Given the description of an element on the screen output the (x, y) to click on. 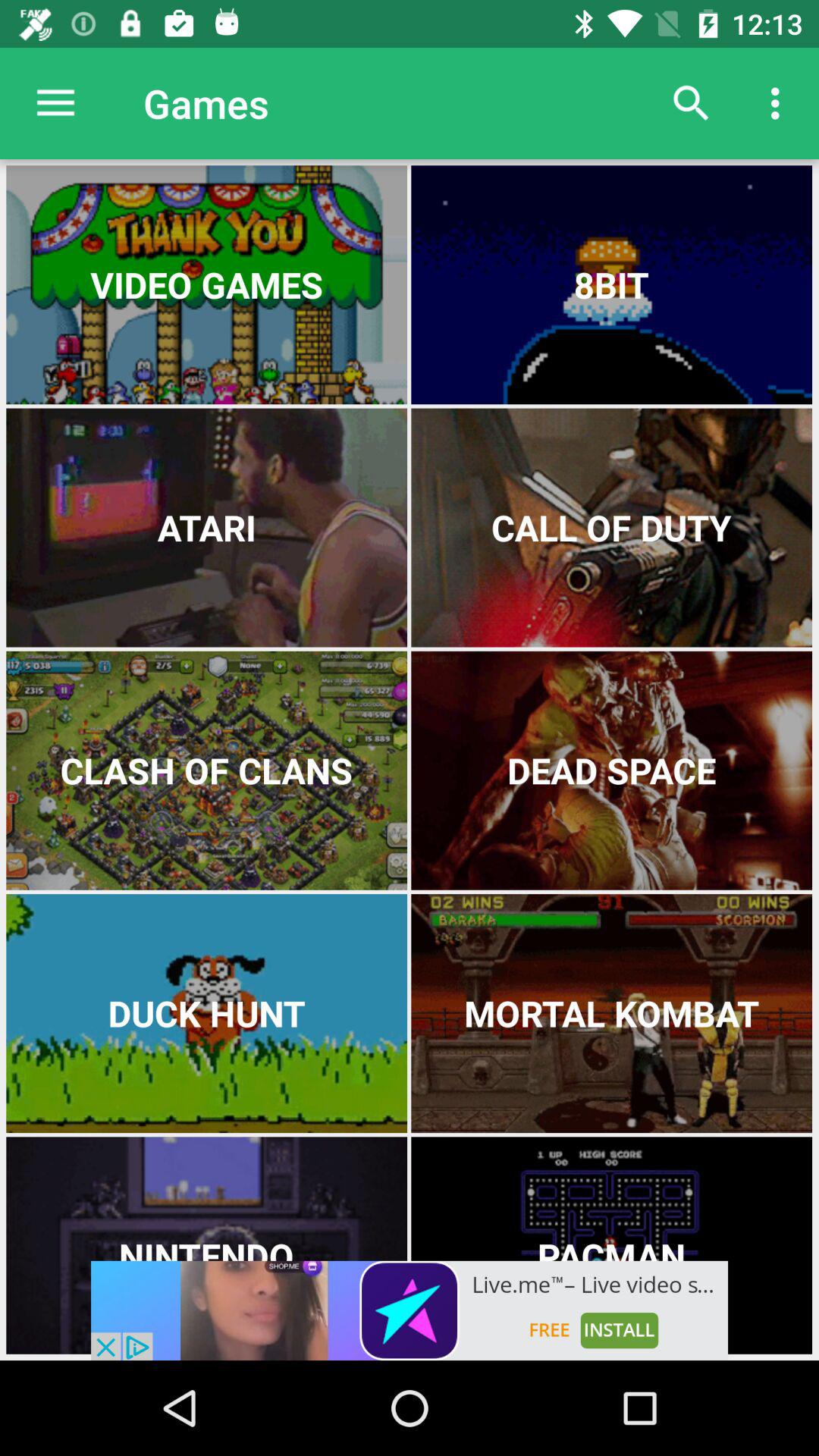
an advertisement (409, 1310)
